Given the description of an element on the screen output the (x, y) to click on. 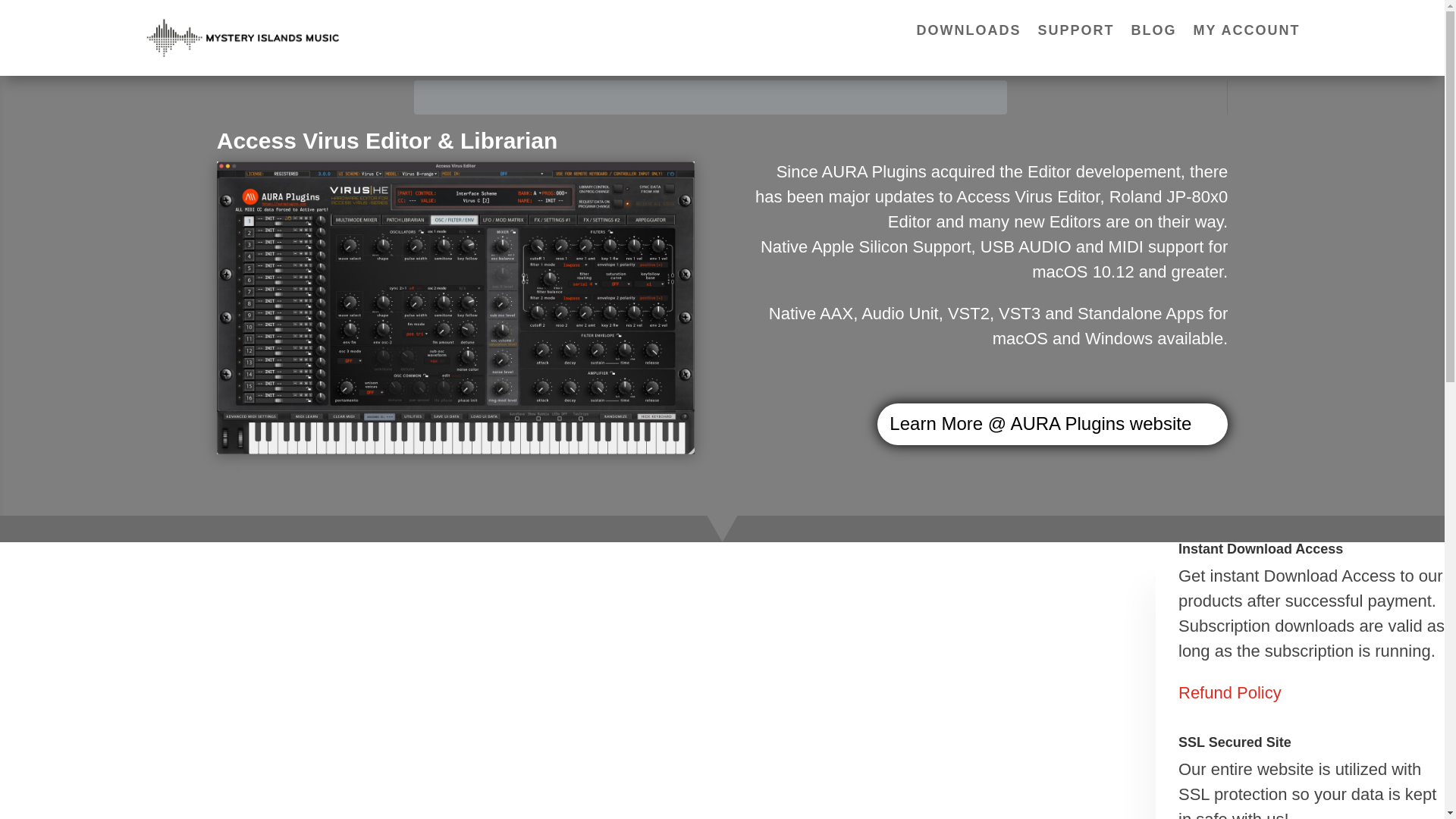
Search (989, 97)
DOWNLOADS (967, 32)
mystery islands music logo (242, 37)
MY ACCOUNT (1246, 32)
Search (989, 97)
SUPPORT (1074, 32)
Refund Policy (1229, 692)
BLOG (1153, 32)
